Given the description of an element on the screen output the (x, y) to click on. 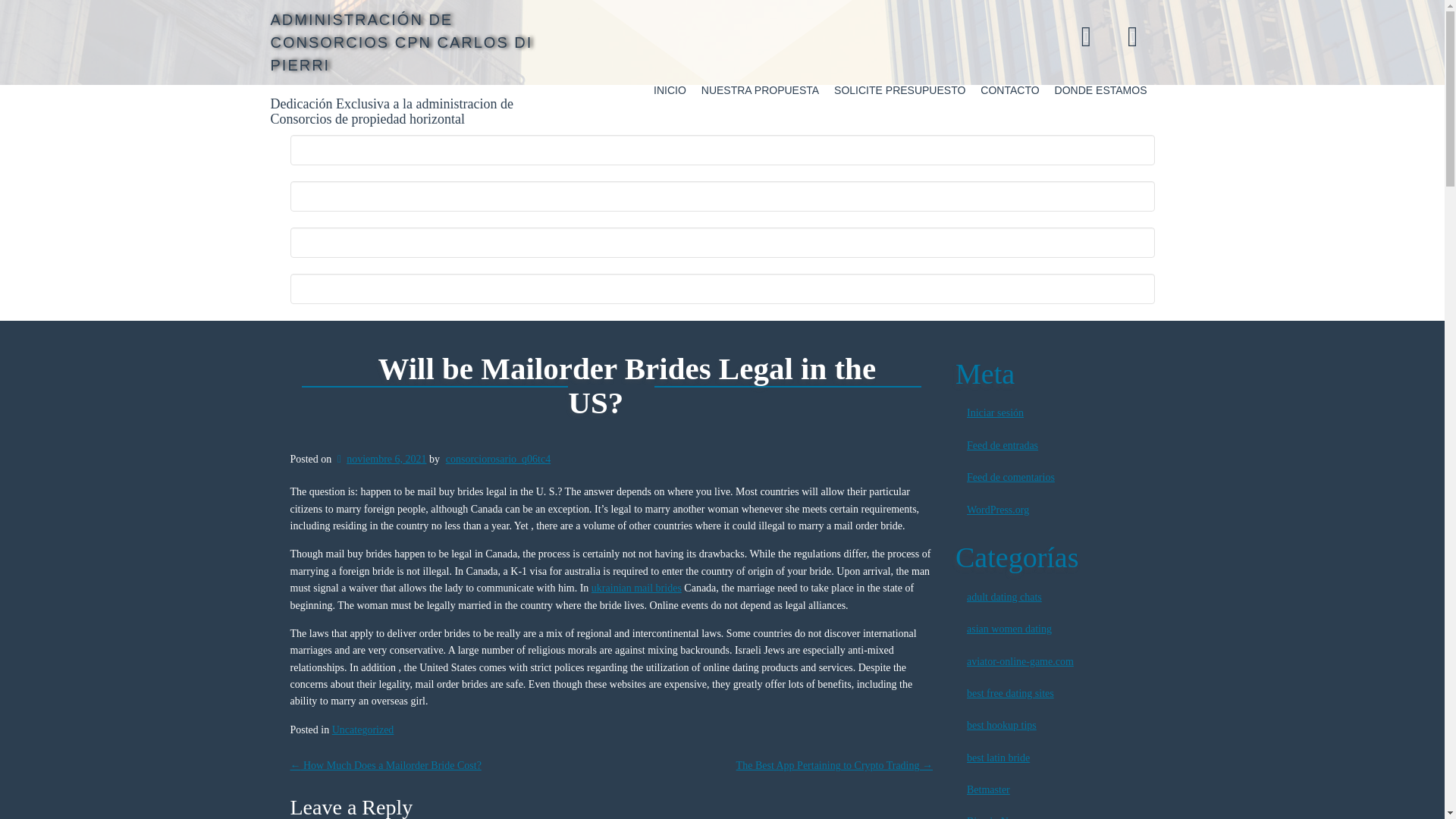
asian women dating (1054, 629)
ukrainian mail brides (636, 587)
best free dating sites (1054, 694)
WordPress.org (1054, 510)
noviembre 6, 2021 (380, 459)
best latin bride (1054, 757)
best hookup tips (1054, 726)
Feed de entradas (1054, 445)
Uncategorized (362, 729)
TWITTER (1132, 35)
Feed de comentarios (1054, 477)
DONDE ESTAMOS (1100, 90)
adult dating chats (1054, 597)
Betmaster (1054, 789)
INICIO (670, 90)
